Given the description of an element on the screen output the (x, y) to click on. 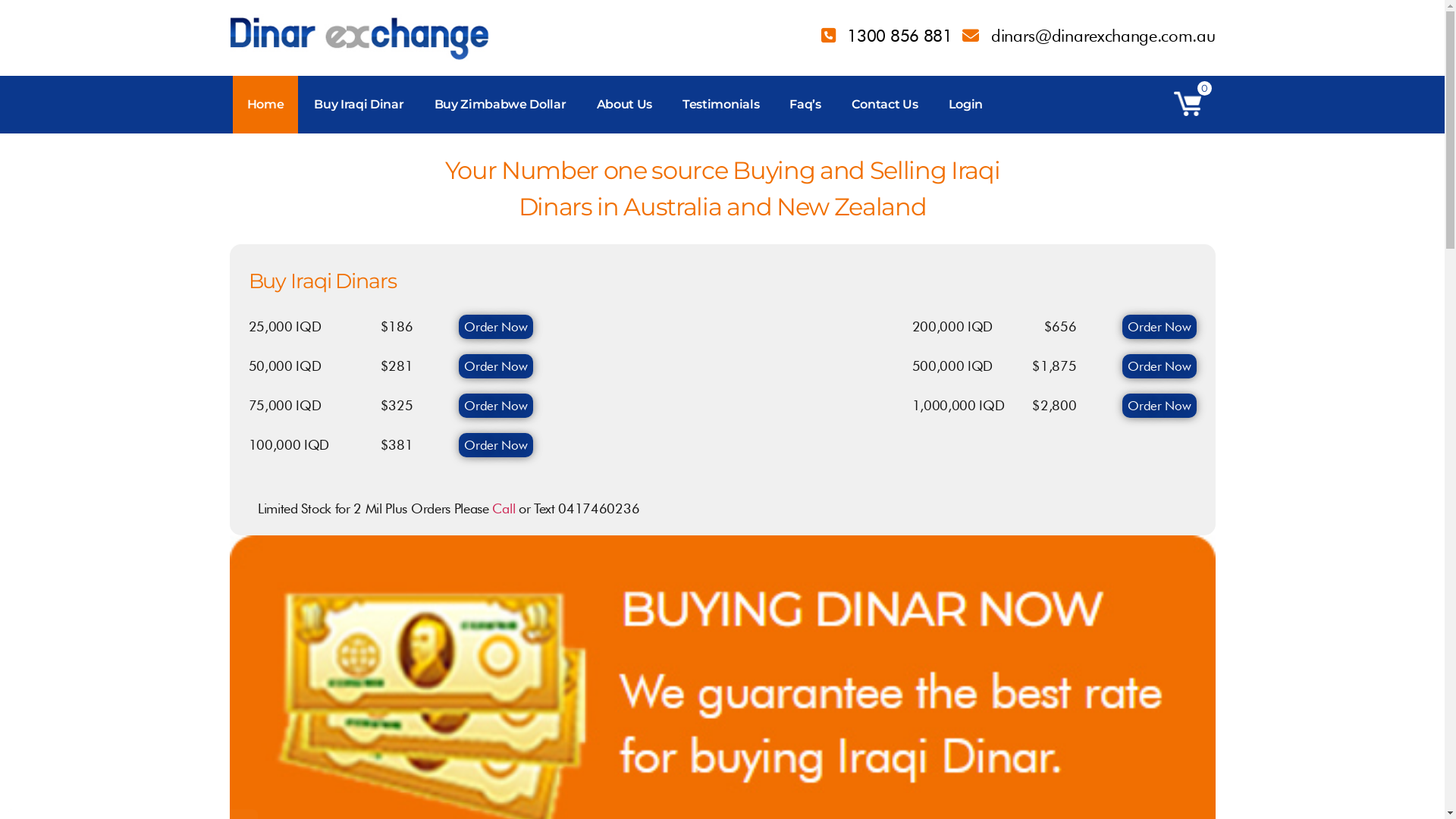
Call Element type: text (503, 508)
Home Element type: text (265, 104)
Order Now Element type: text (495, 326)
1300 856 881 Element type: text (886, 35)
About Us Element type: text (624, 104)
Order Now Element type: text (1158, 326)
Contact Us Element type: text (884, 104)
Order Now Element type: text (495, 445)
dinars@dinarexchange.com.au Element type: text (1088, 35)
Login Element type: text (965, 104)
Buy Zimbabwe Dollar Element type: text (500, 104)
Testimonials Element type: text (720, 104)
Order Now Element type: text (1158, 366)
Order Now Element type: text (495, 405)
Buy Iraqi Dinar Element type: text (358, 104)
Order Now Element type: text (495, 366)
Order Now Element type: text (1158, 405)
